Given the description of an element on the screen output the (x, y) to click on. 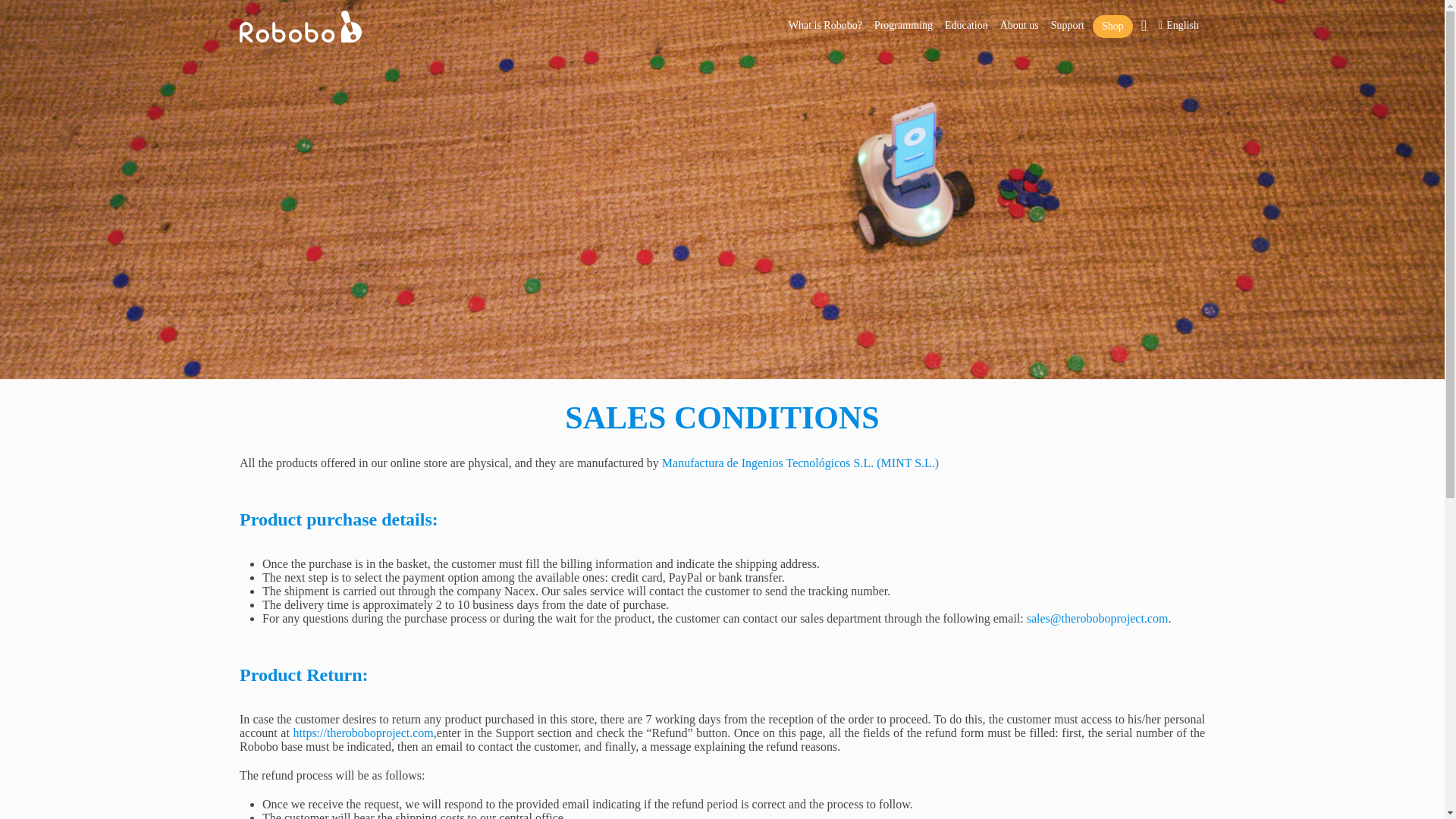
Shop (1112, 26)
What is Robobo? (825, 18)
About us (1018, 18)
Education (965, 18)
Programming (903, 18)
English (1178, 18)
Support (1066, 18)
